Given the description of an element on the screen output the (x, y) to click on. 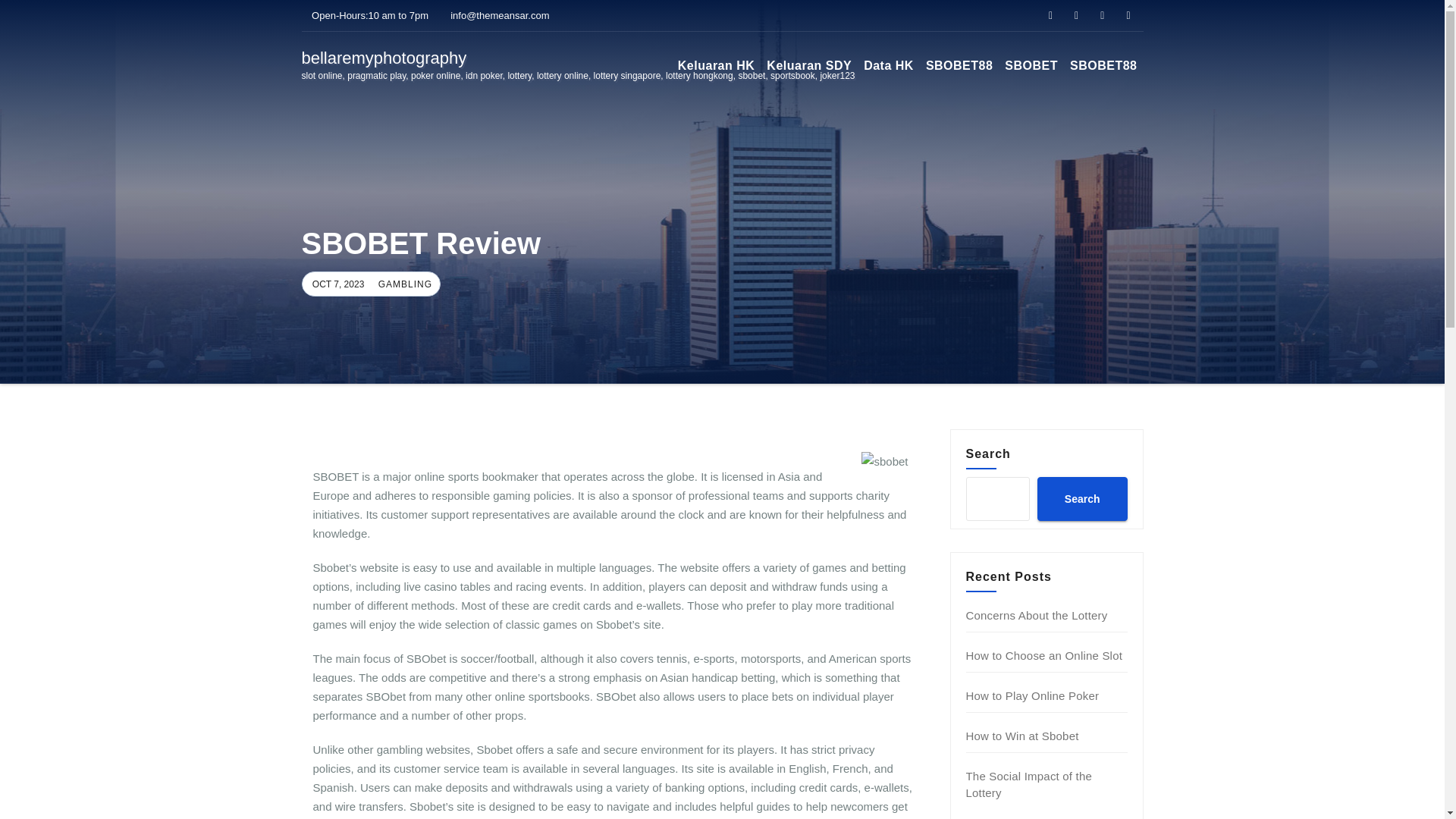
How to Play Online Poker (1032, 695)
Keluaran HK (716, 65)
SBOBET88 (959, 65)
Keluaran SDY (808, 65)
Keluaran SDY (808, 65)
How to Win at Sbobet (1022, 735)
Open-Hours:10 am to 7pm (365, 15)
SBOBET88 (959, 65)
Data HK (888, 65)
SBOBET (1031, 65)
GAMBLING (403, 284)
The Social Impact of the Lottery (1029, 784)
SBOBET88 (1103, 65)
Search (1081, 498)
SBOBET (1031, 65)
